Given the description of an element on the screen output the (x, y) to click on. 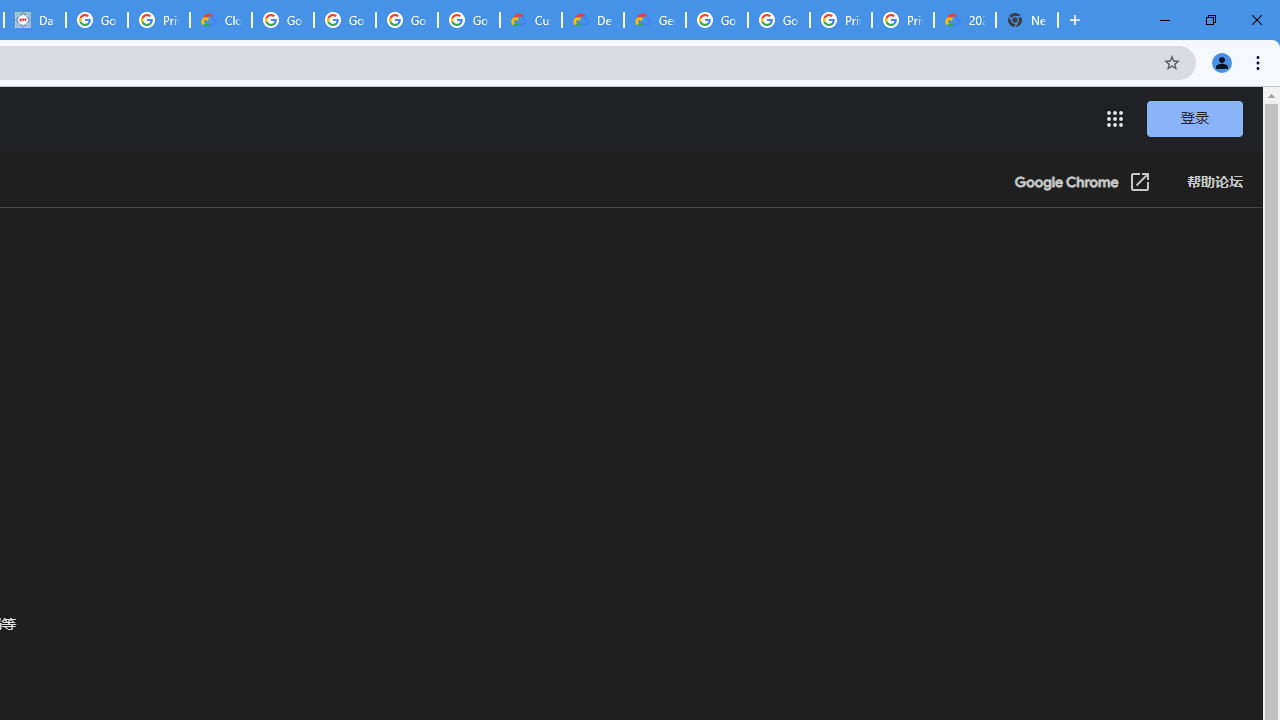
Bookmark this tab (1171, 62)
Google Cloud Platform (778, 20)
Chrome (1260, 62)
Gemini for Business and Developers | Google Cloud (654, 20)
New Tab (1026, 20)
Google Cloud Platform (716, 20)
New Tab (1075, 20)
You (1221, 62)
